Given the description of an element on the screen output the (x, y) to click on. 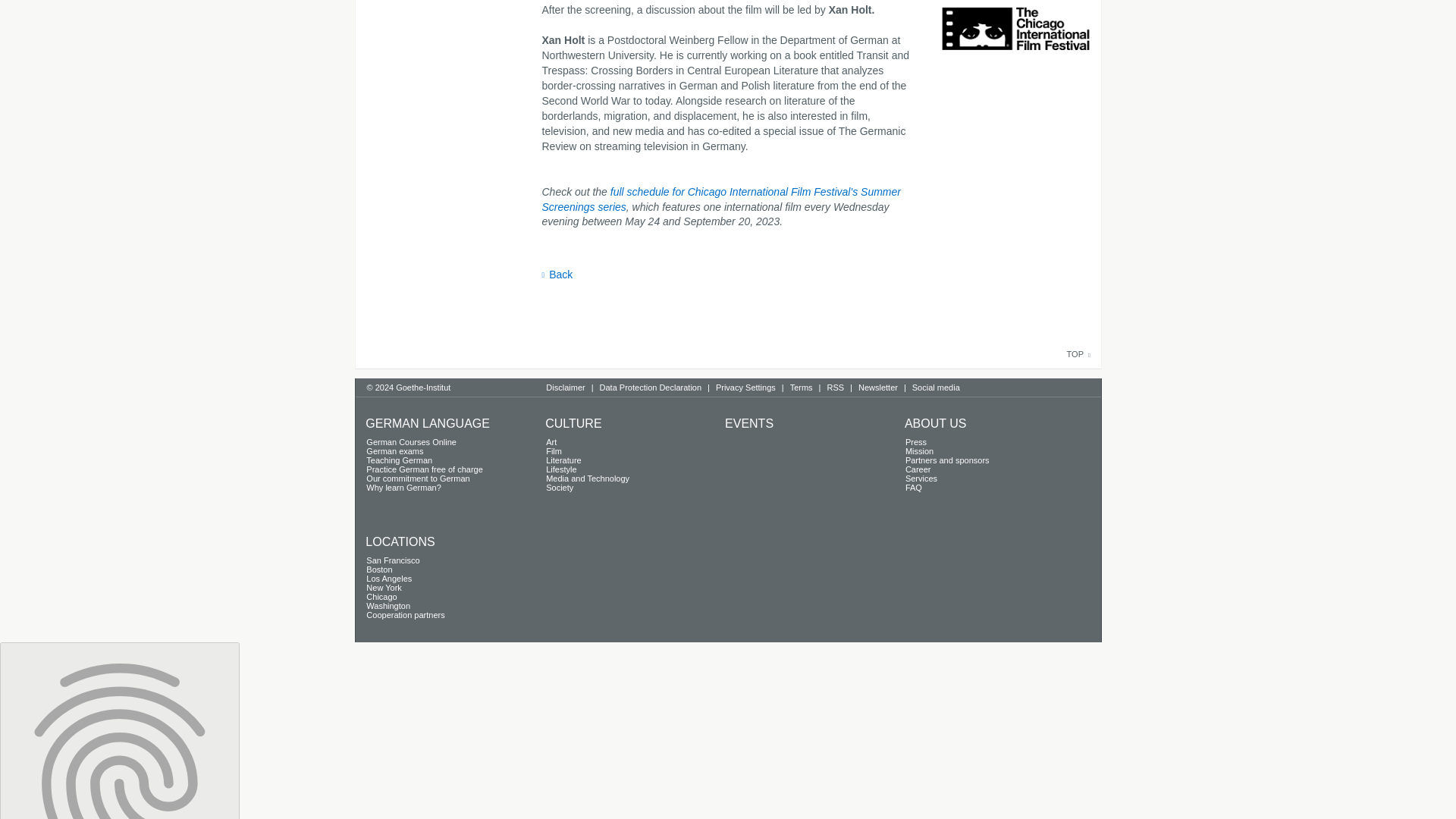
Cinema Chicago Logo      (1015, 36)
